Given the description of an element on the screen output the (x, y) to click on. 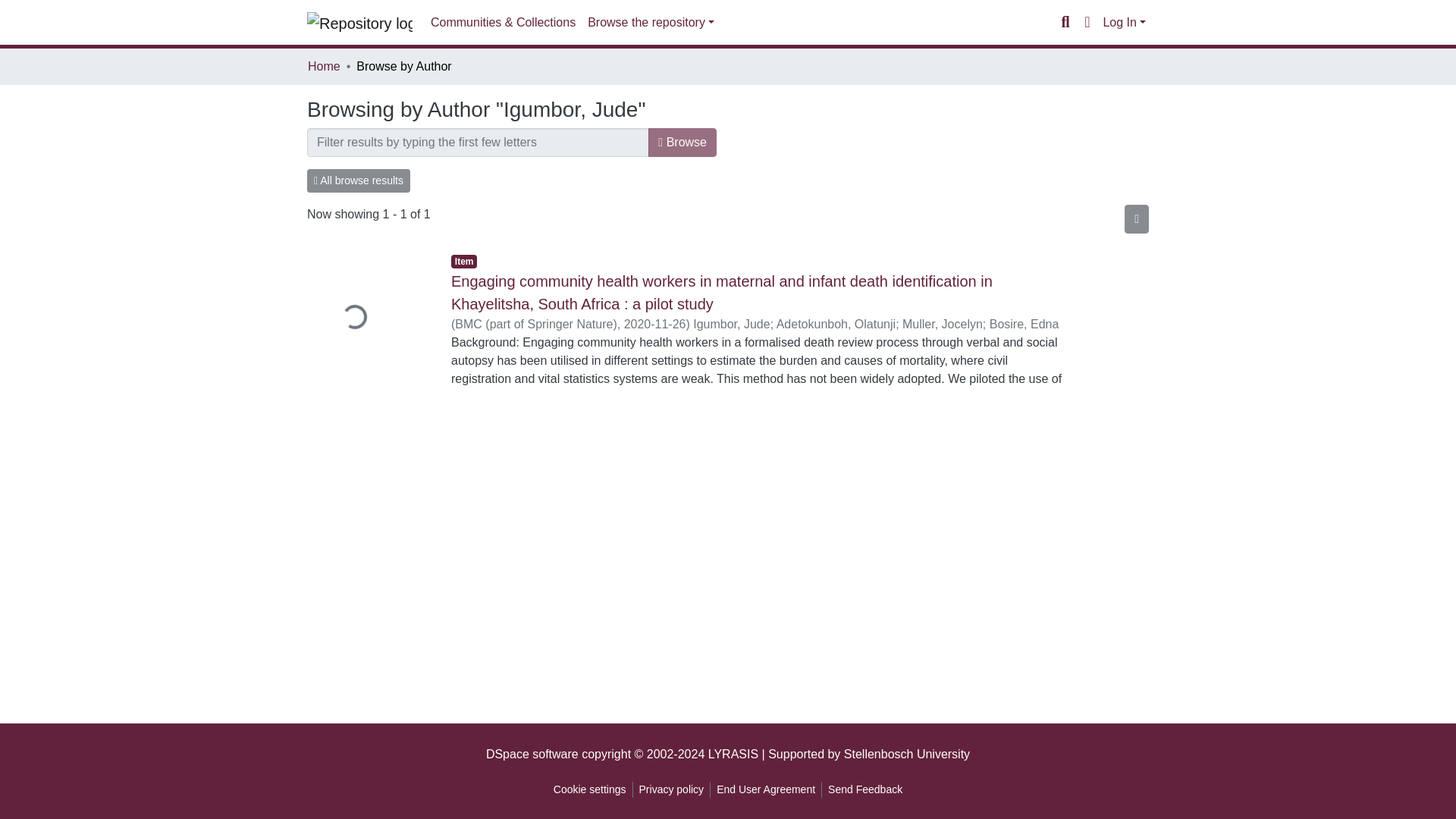
Log In (1123, 21)
Stellenbosch University (906, 753)
LYRASIS (732, 753)
Home (323, 66)
Privacy policy (671, 789)
Cookie settings (589, 789)
All browse results (358, 180)
Language switch (1086, 22)
Search (1064, 22)
Browse the repository (650, 22)
Browse (681, 142)
Loading... (367, 318)
DSpace software (532, 753)
